Given the description of an element on the screen output the (x, y) to click on. 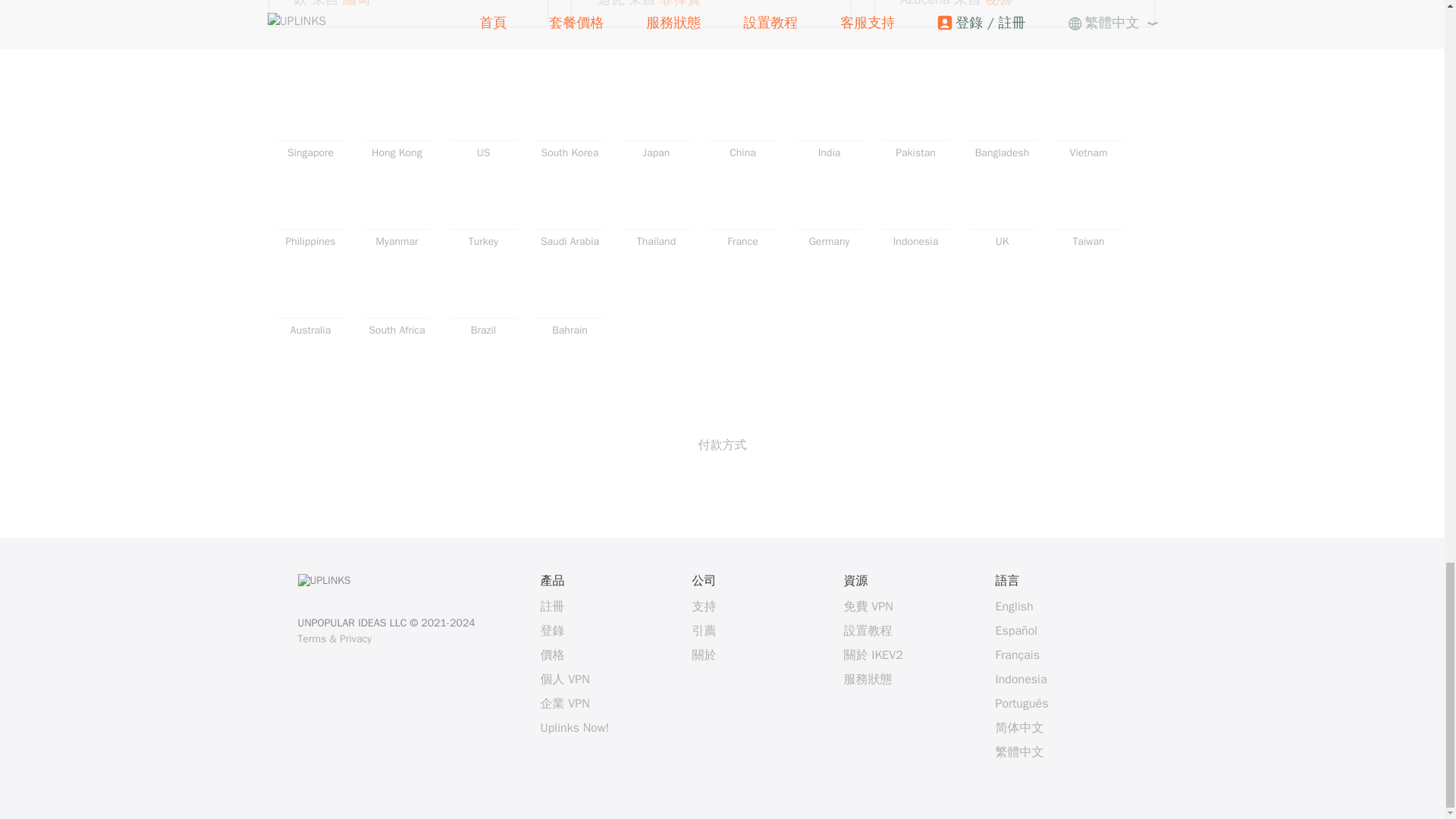
US (482, 126)
Japan (655, 126)
Pakistan (914, 126)
Hong Kong (396, 126)
Singapore (309, 126)
India (828, 126)
China (741, 126)
South Korea (569, 126)
